Given the description of an element on the screen output the (x, y) to click on. 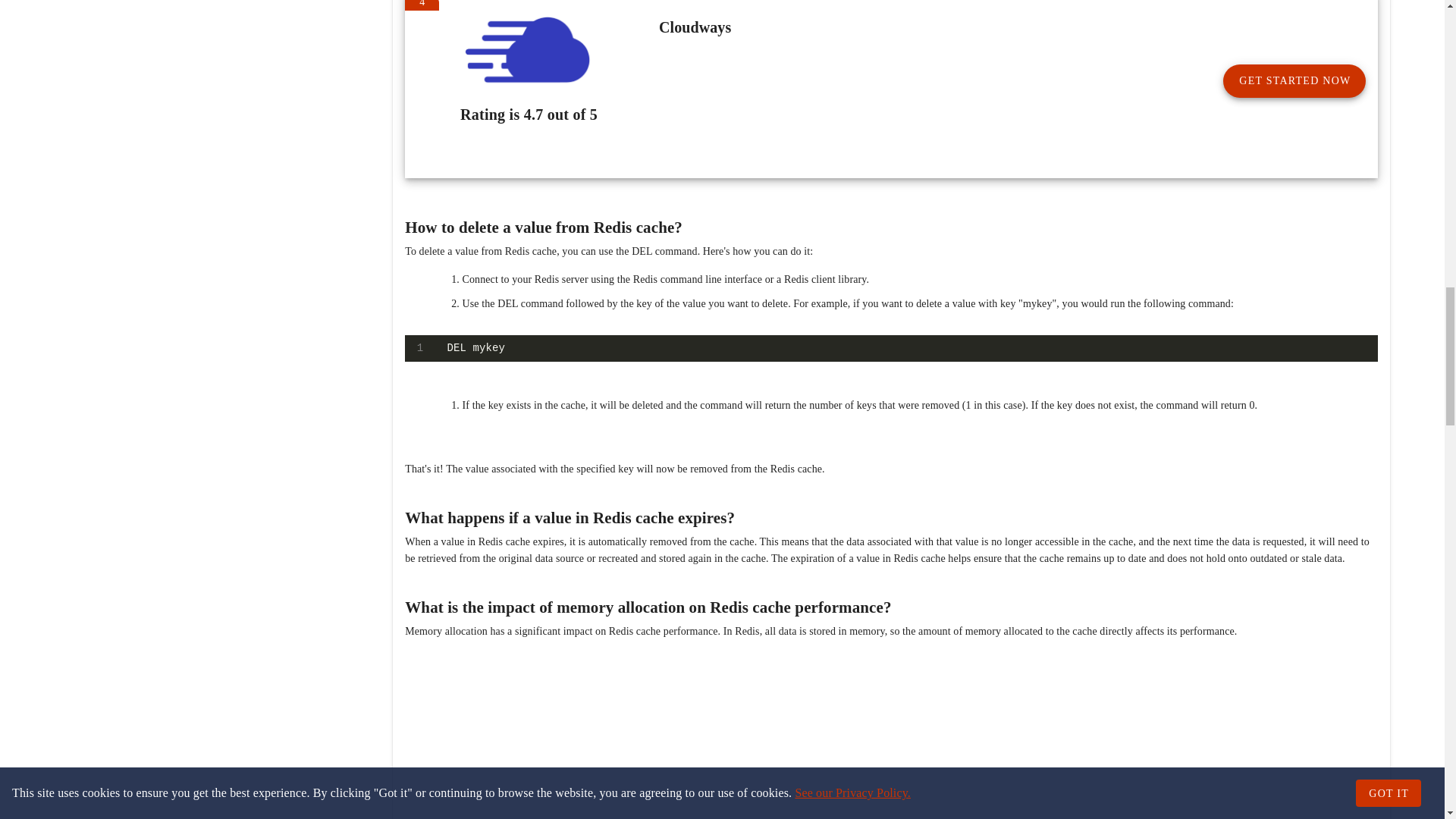
GET STARTED NOW (1294, 80)
